Given the description of an element on the screen output the (x, y) to click on. 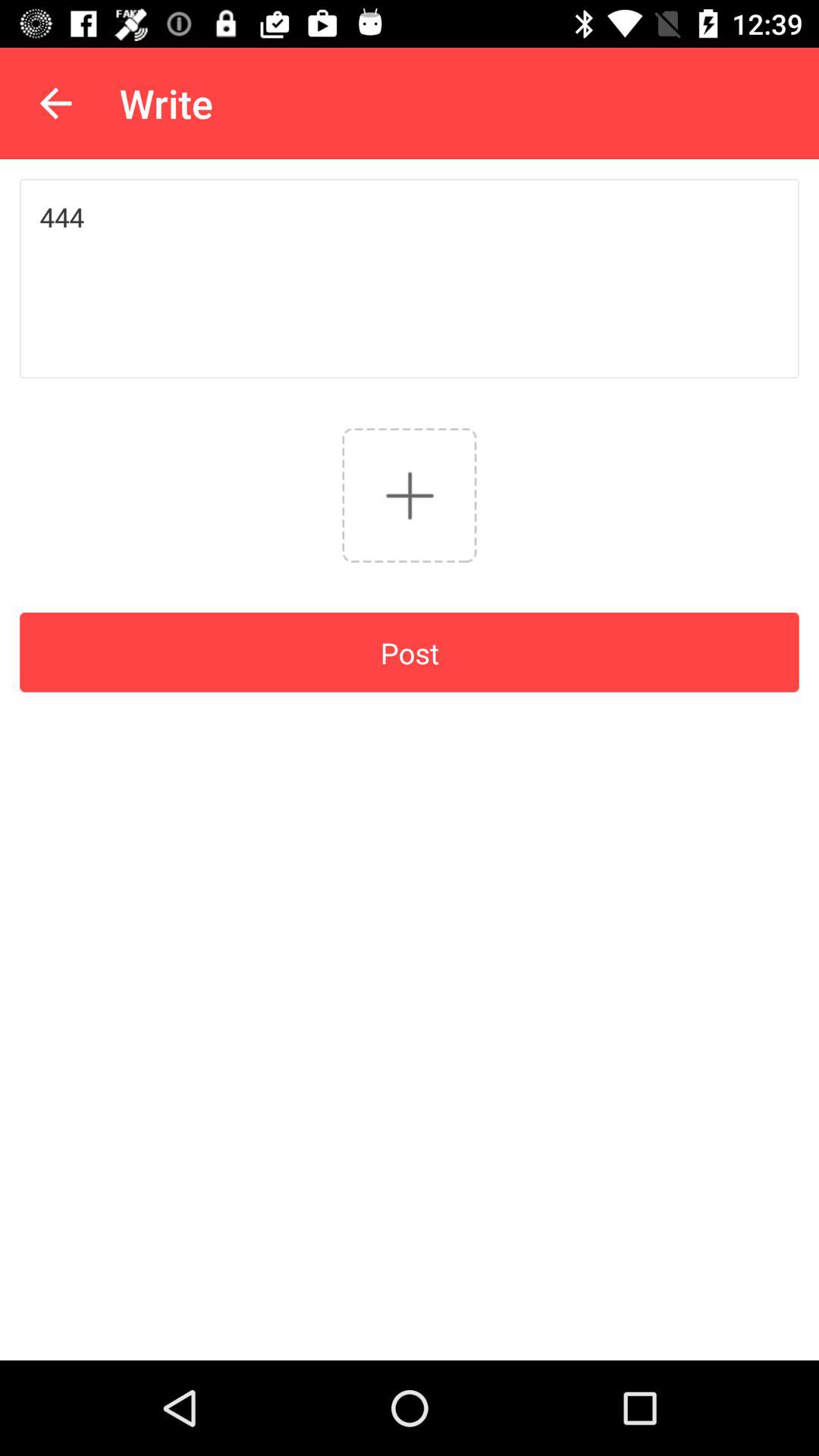
turn on app to the left of write (55, 103)
